Given the description of an element on the screen output the (x, y) to click on. 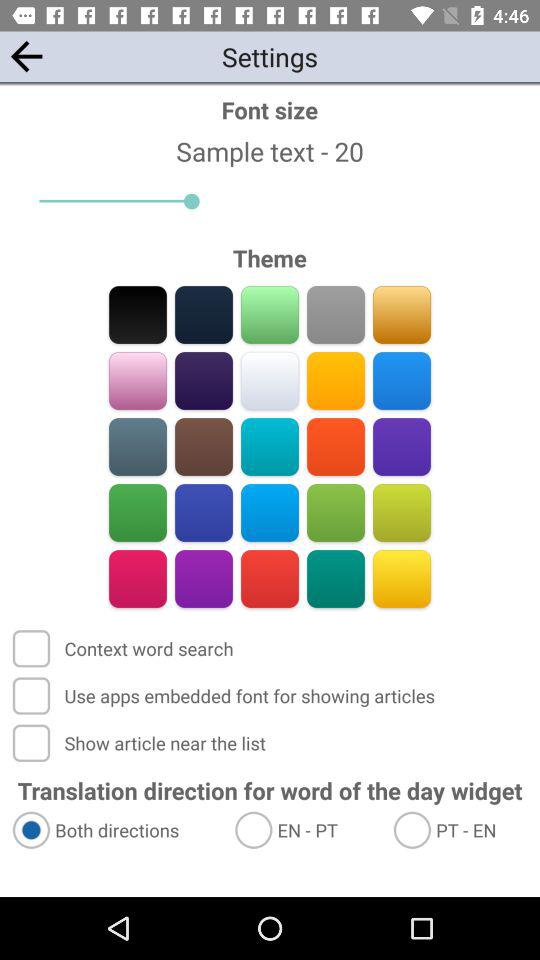
click the app to the left of the font size (26, 56)
